Given the description of an element on the screen output the (x, y) to click on. 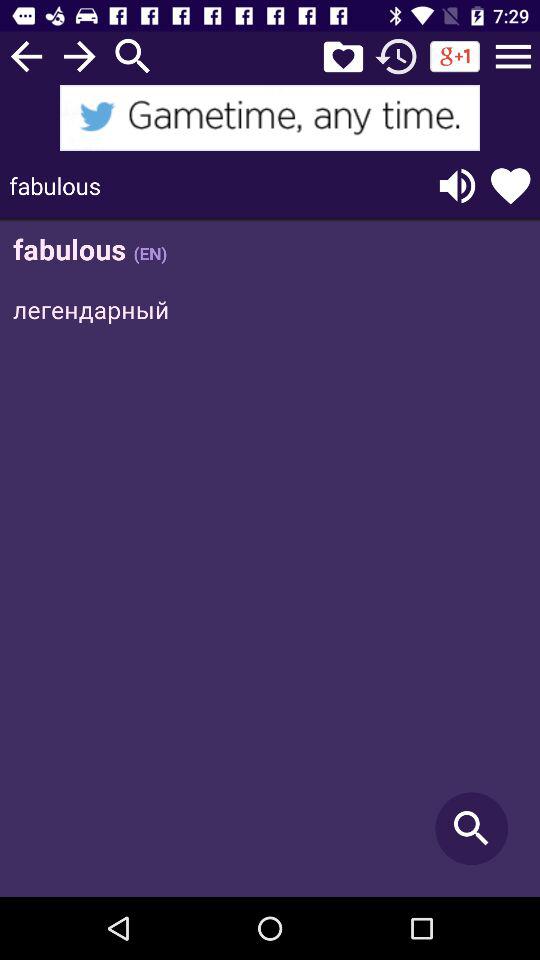
change volume (457, 185)
